Given the description of an element on the screen output the (x, y) to click on. 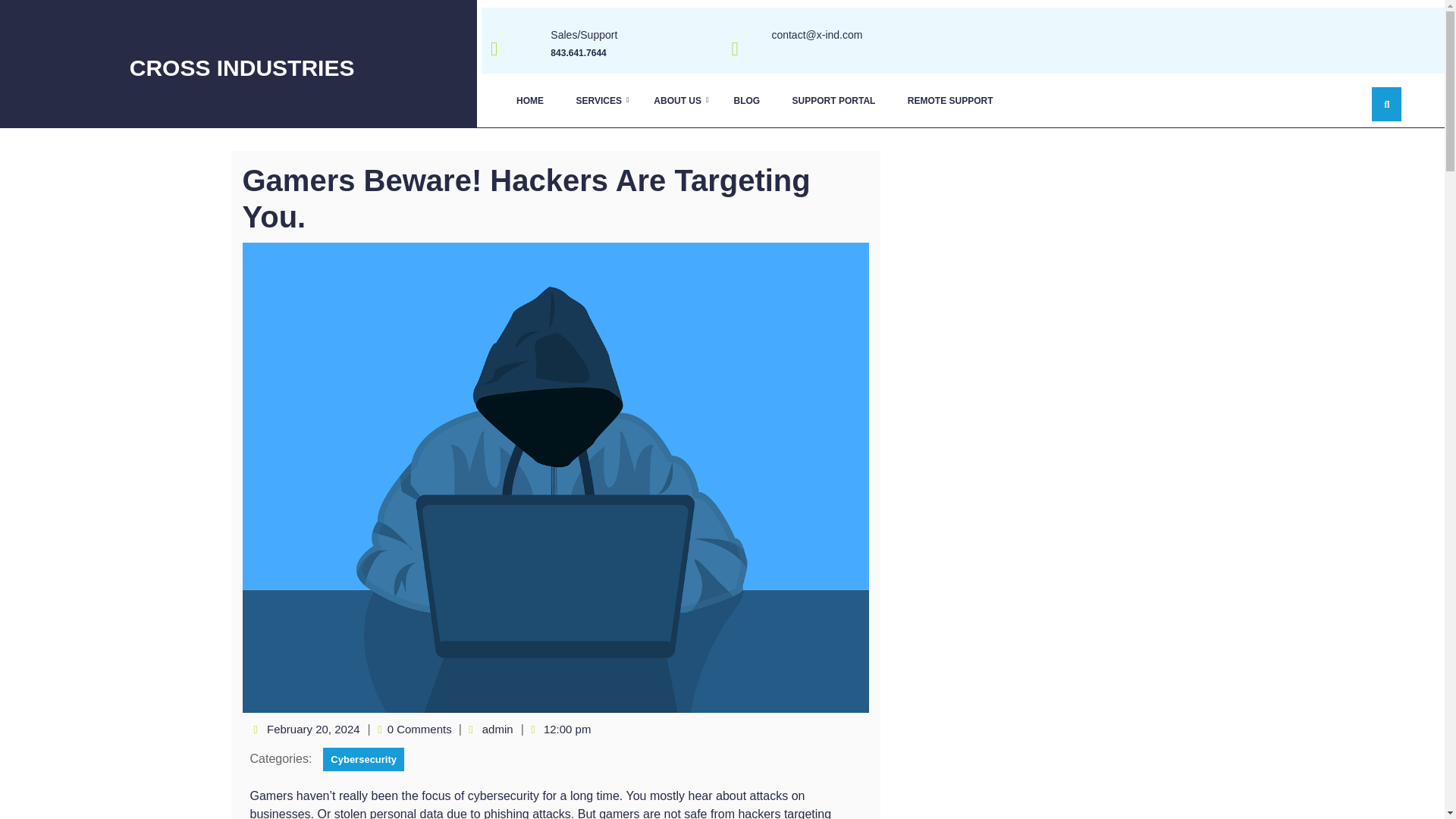
ABOUT US (677, 100)
843.641.7644 (577, 52)
HOME (529, 100)
CROSS INDUSTRIES (242, 66)
REMOTE SUPPORT (950, 100)
SERVICES (597, 100)
admin (497, 727)
February 20, 2024 (313, 727)
SUPPORT PORTAL (833, 100)
BLOG (746, 100)
Search (1158, 77)
Cybersecurity (363, 759)
